Given the description of an element on the screen output the (x, y) to click on. 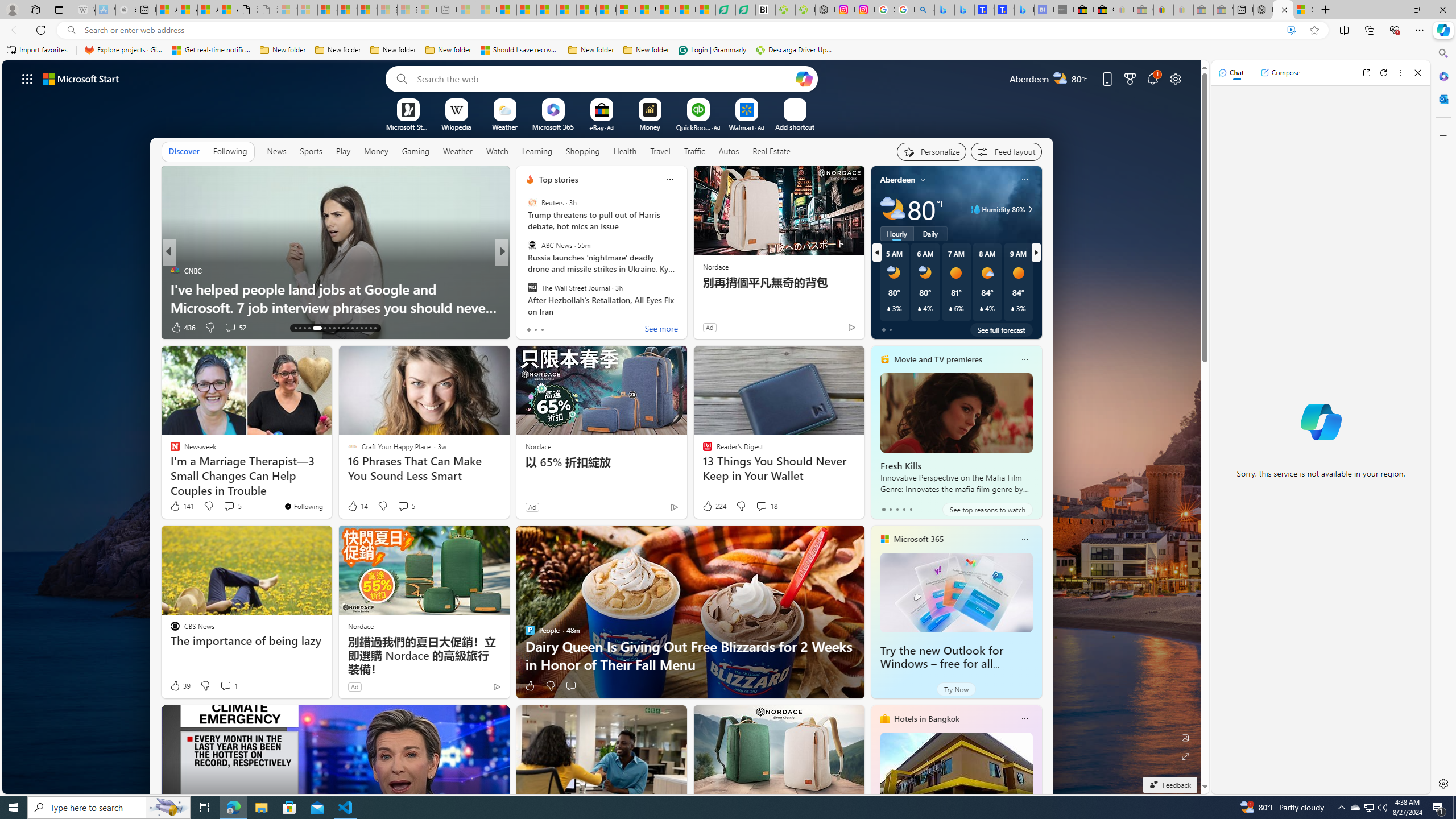
1 Like (529, 327)
You're following Newsweek (303, 505)
Reuters (532, 202)
tab-2 (897, 509)
